Given the description of an element on the screen output the (x, y) to click on. 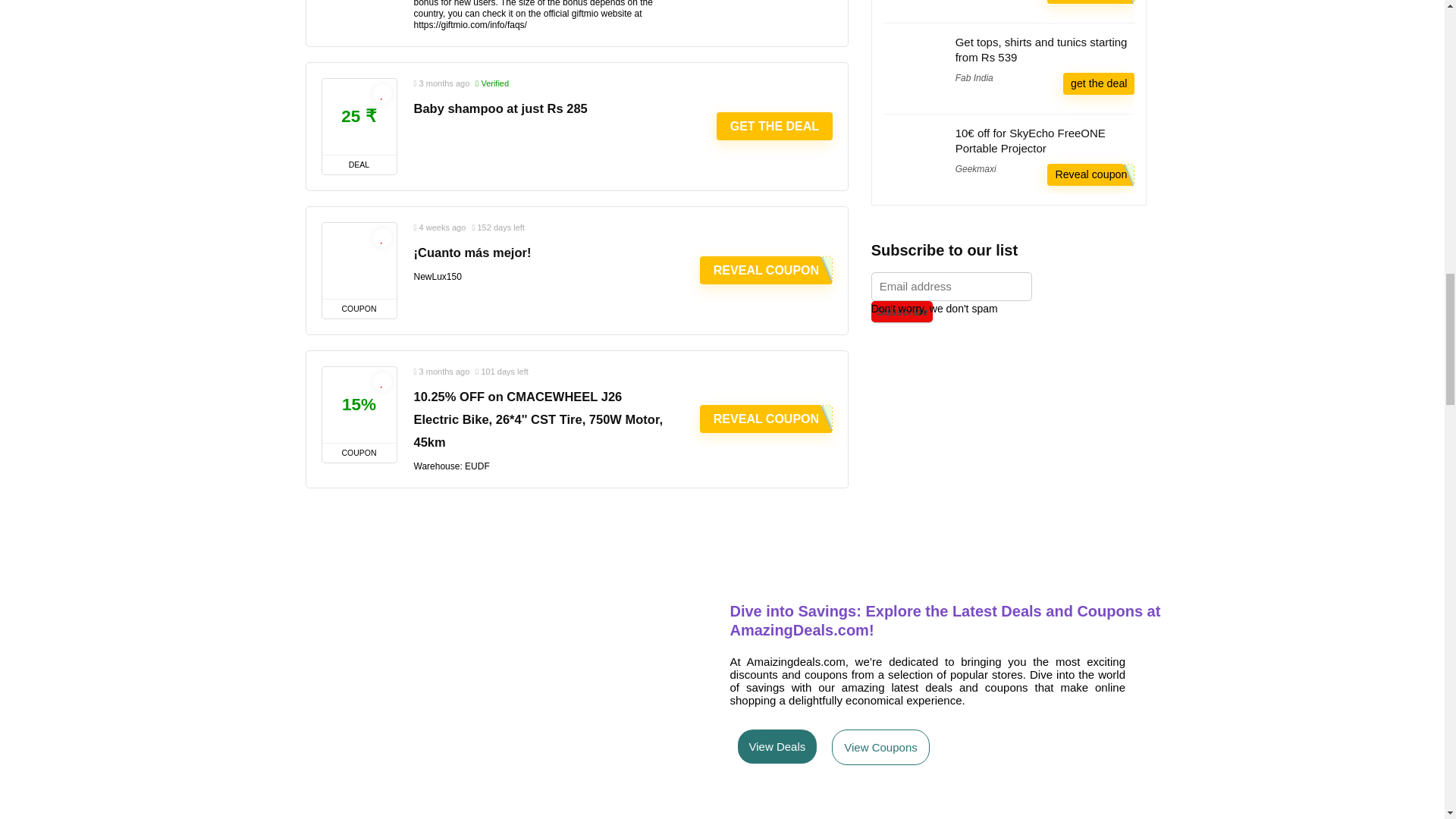
GET THE DEAL (774, 126)
Subscribe (901, 310)
Baby shampoo at just Rs 285 (500, 108)
